Given the description of an element on the screen output the (x, y) to click on. 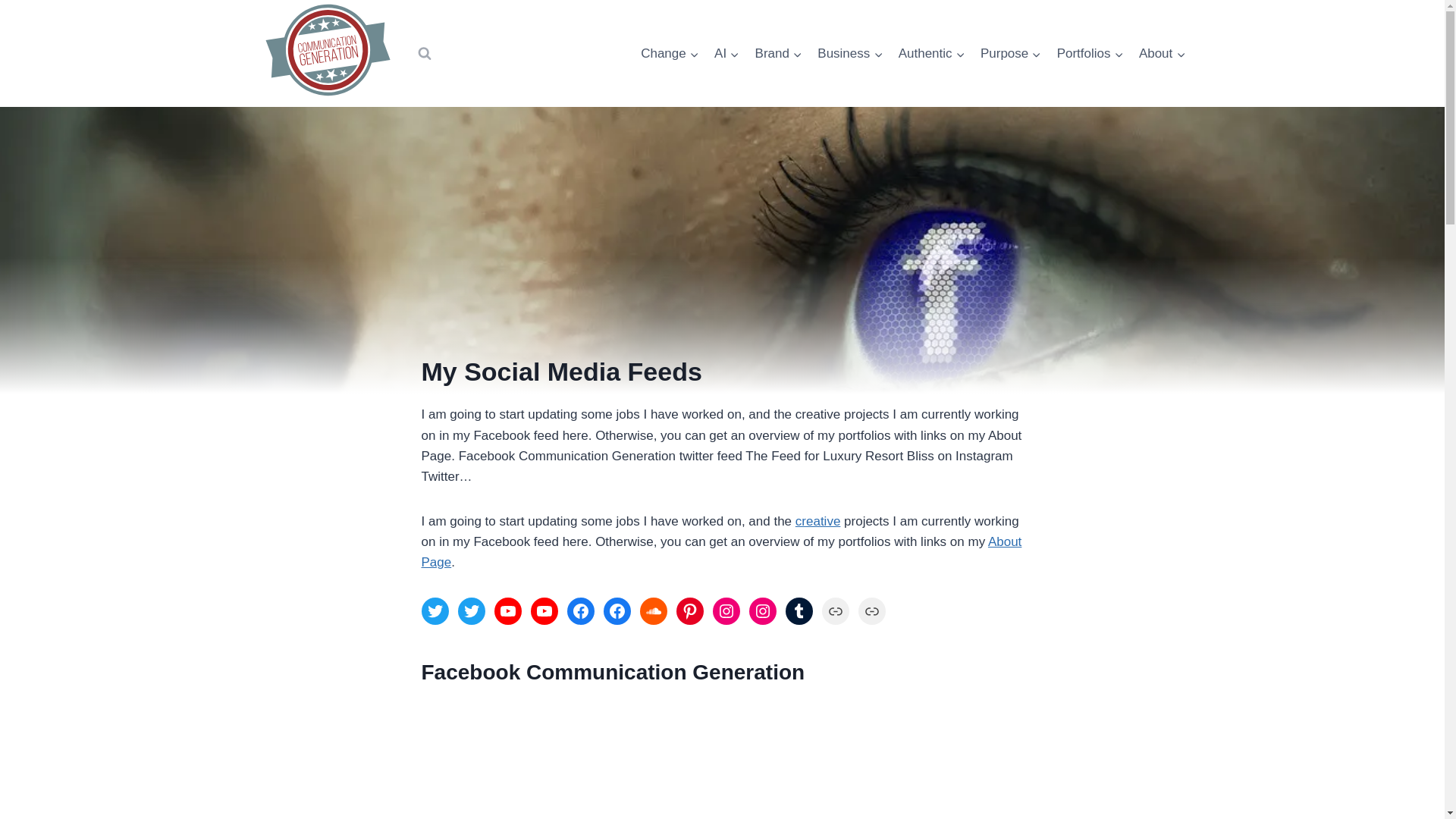
Change (669, 54)
Brand (777, 54)
AI (726, 54)
